Given the description of an element on the screen output the (x, y) to click on. 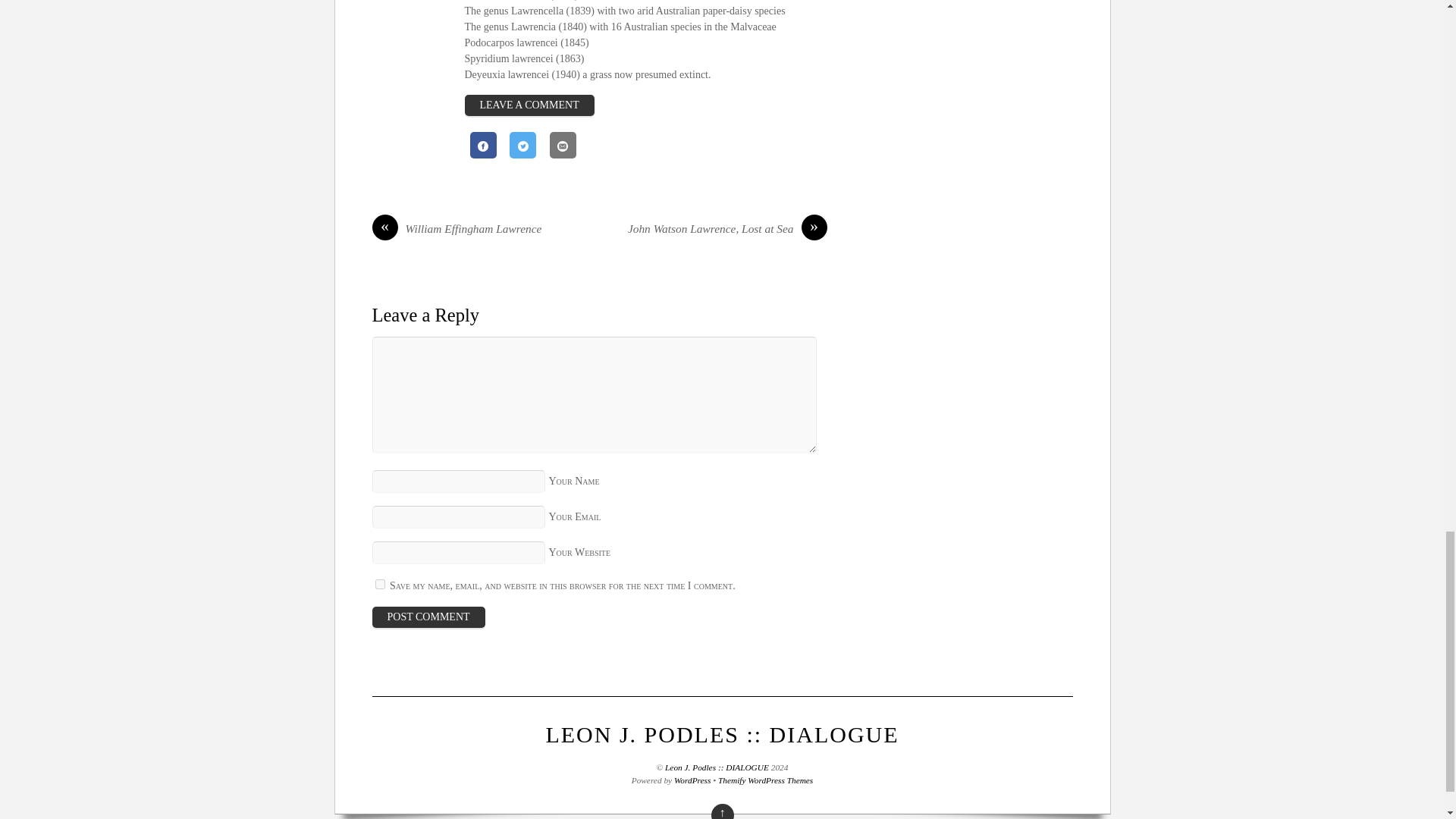
Post Comment (427, 617)
LEAVE A COMMENT (529, 105)
yes (379, 583)
Post Comment (427, 617)
